Given the description of an element on the screen output the (x, y) to click on. 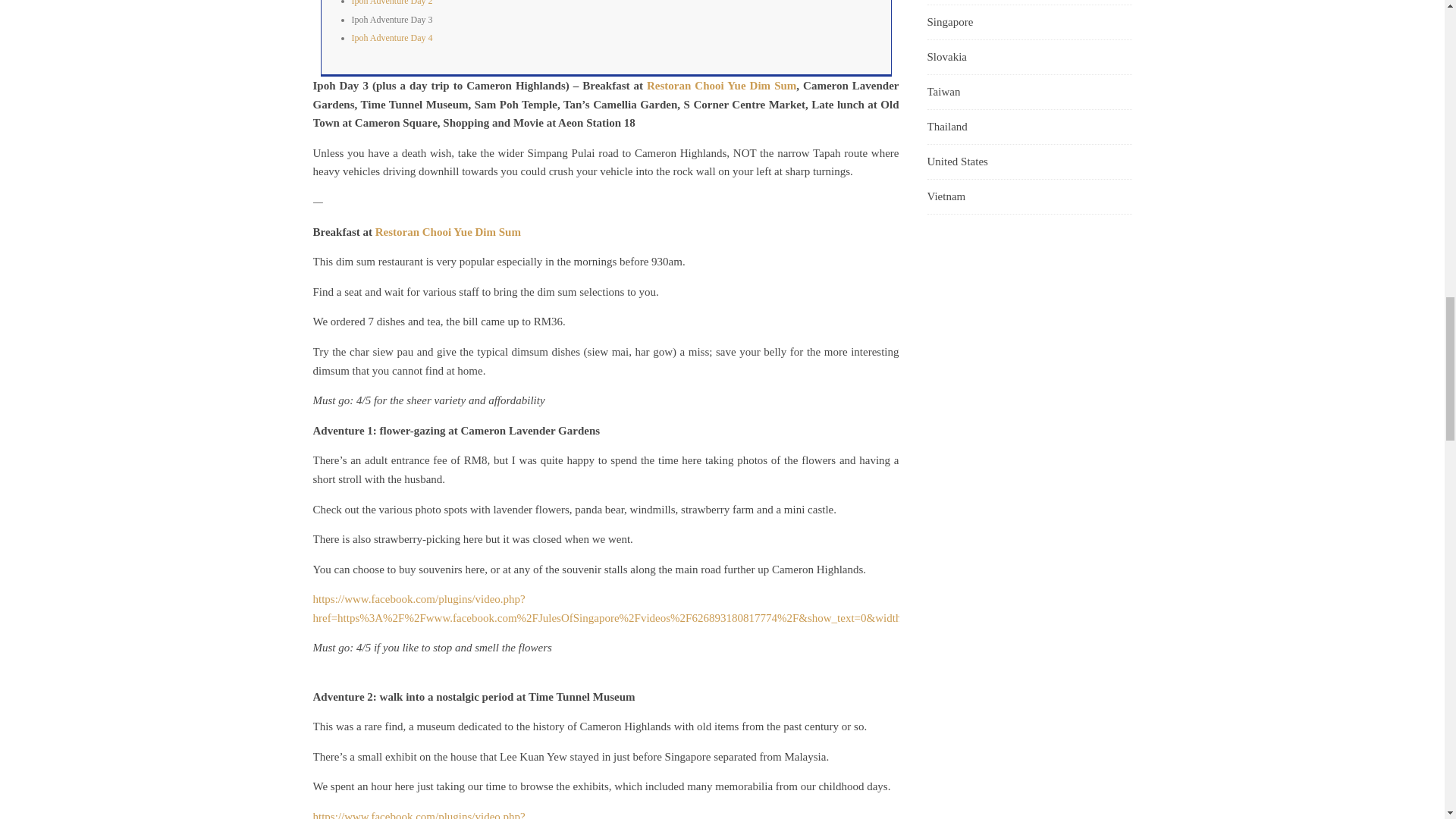
Ipoh Adventure Day 2 (392, 2)
Ipoh Adventure Day 4 (392, 37)
